Given the description of an element on the screen output the (x, y) to click on. 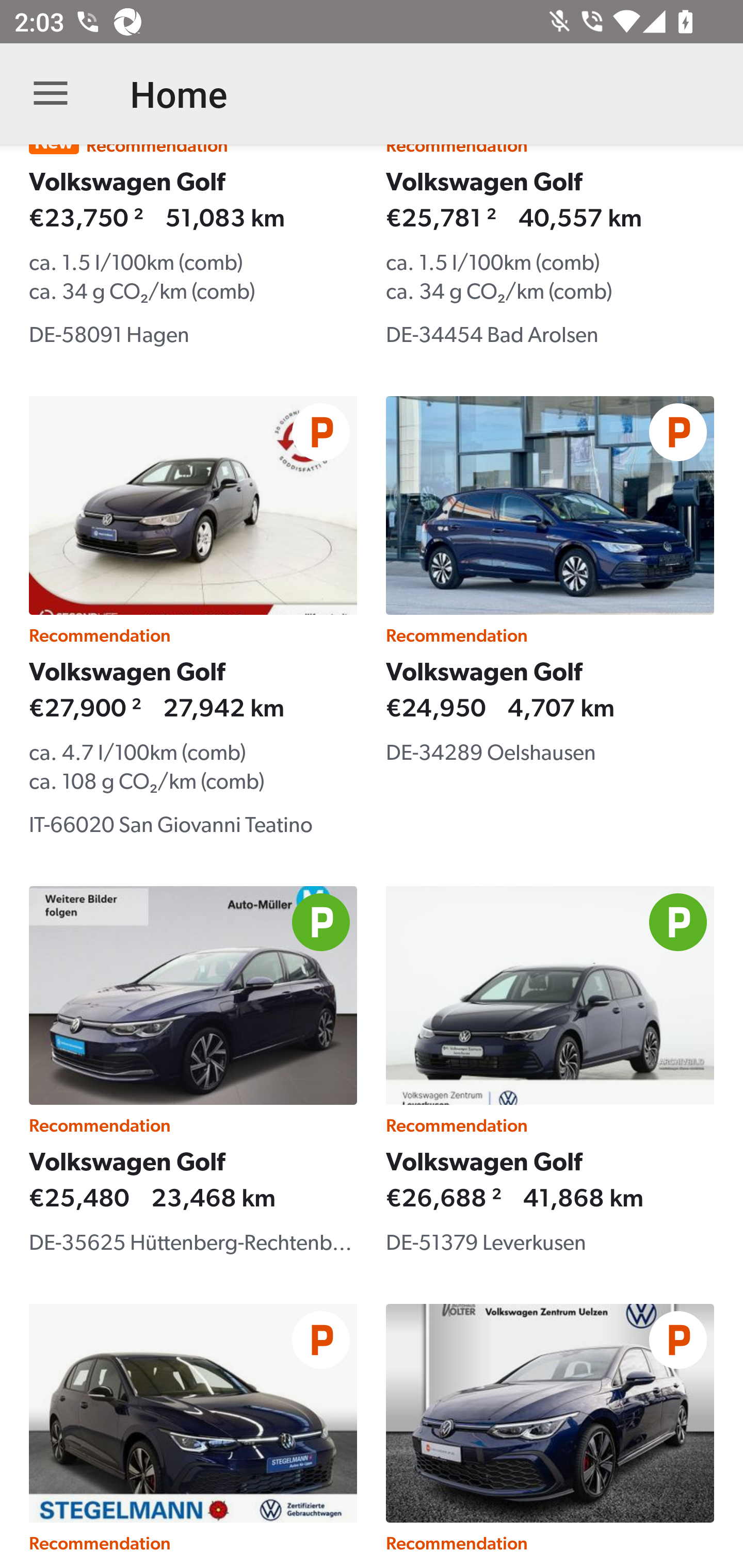
Open navigation bar (50, 93)
Recommendation Volkswagen Golf (192, 1436)
Recommendation Volkswagen Golf (549, 1436)
